Given the description of an element on the screen output the (x, y) to click on. 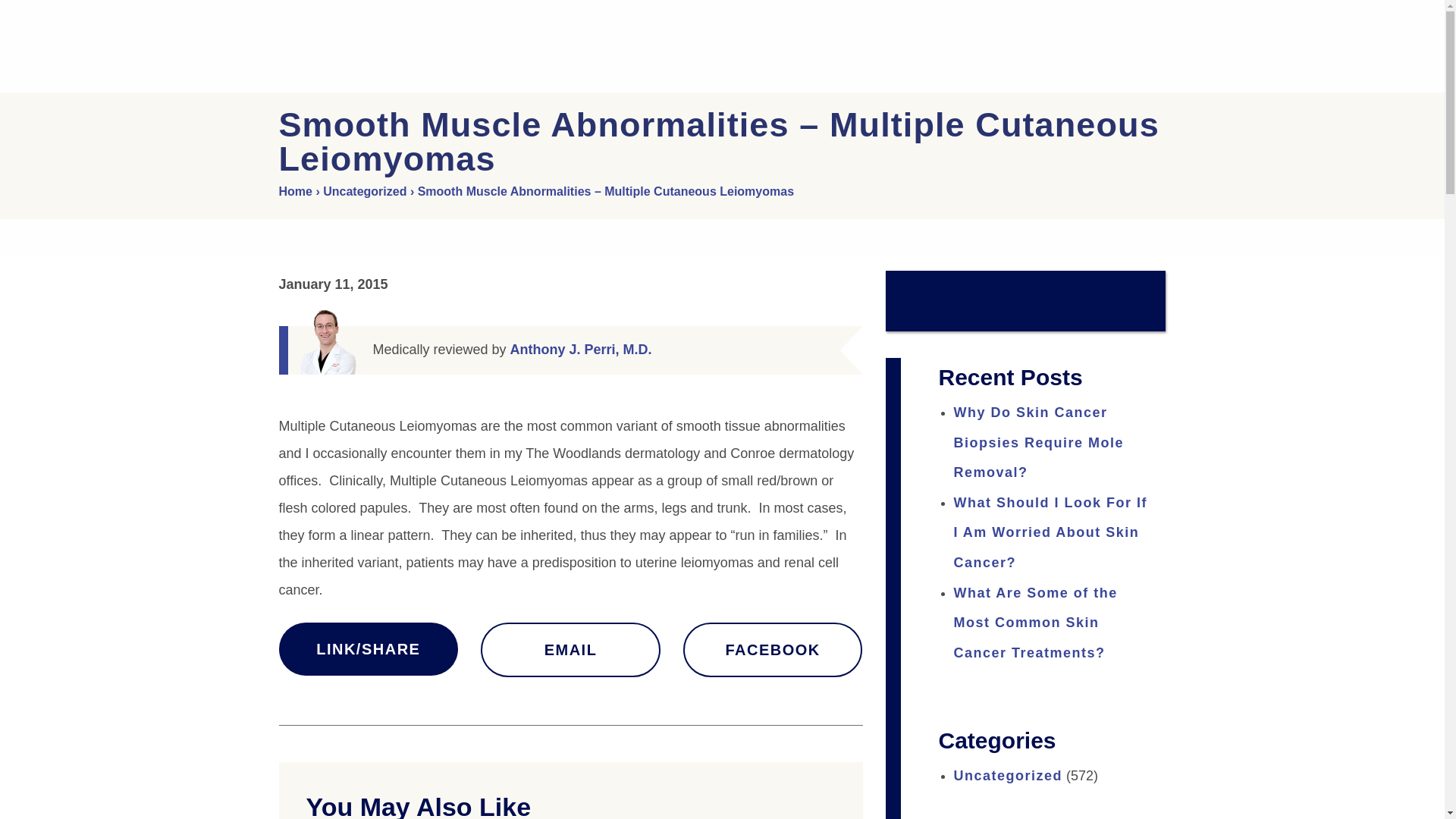
Uncategorized (364, 191)
Home (296, 191)
